Given the description of an element on the screen output the (x, y) to click on. 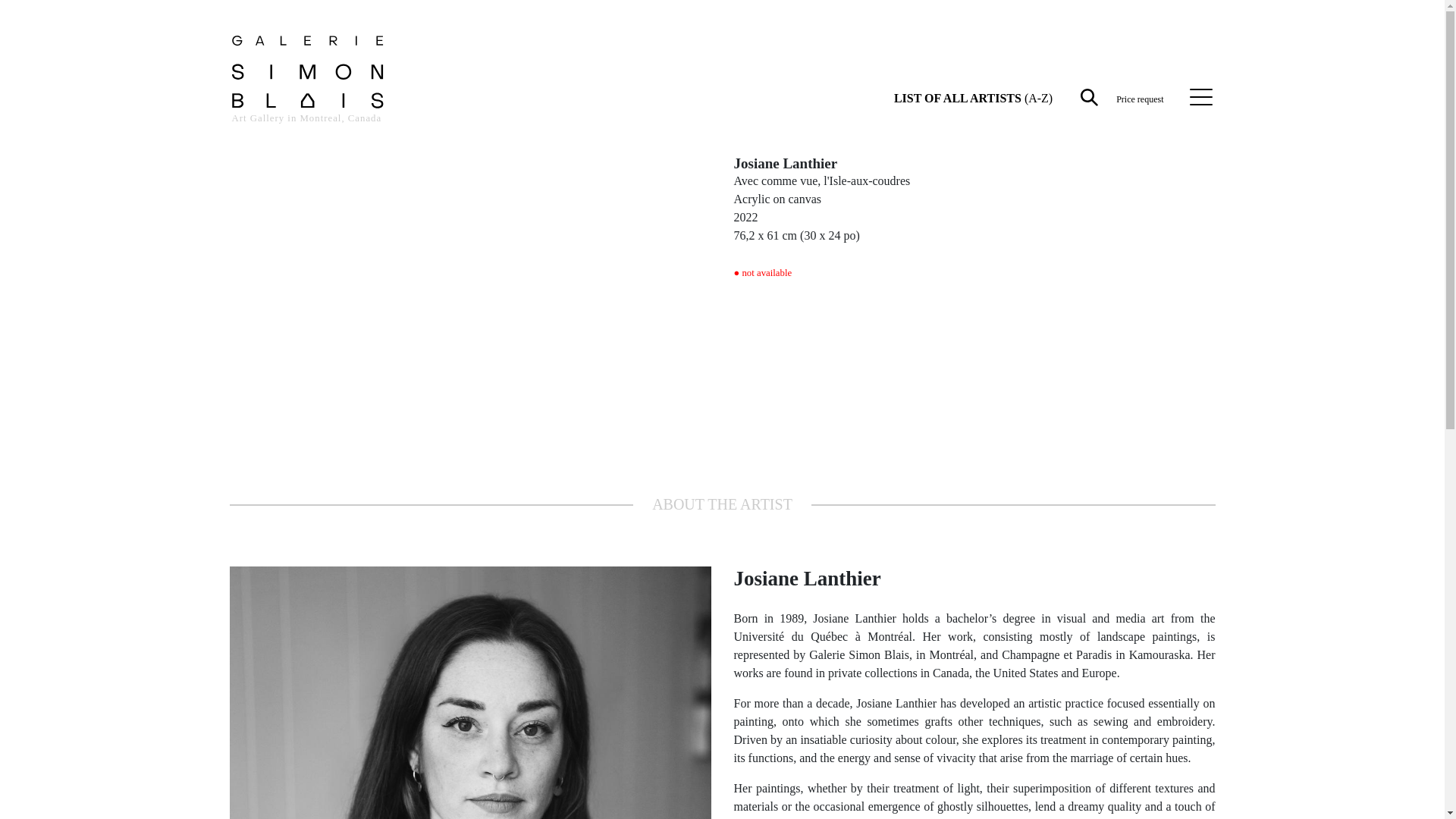
Art Gallery in Montreal, Canada (307, 88)
Home (307, 88)
Price request (1139, 97)
